Given the description of an element on the screen output the (x, y) to click on. 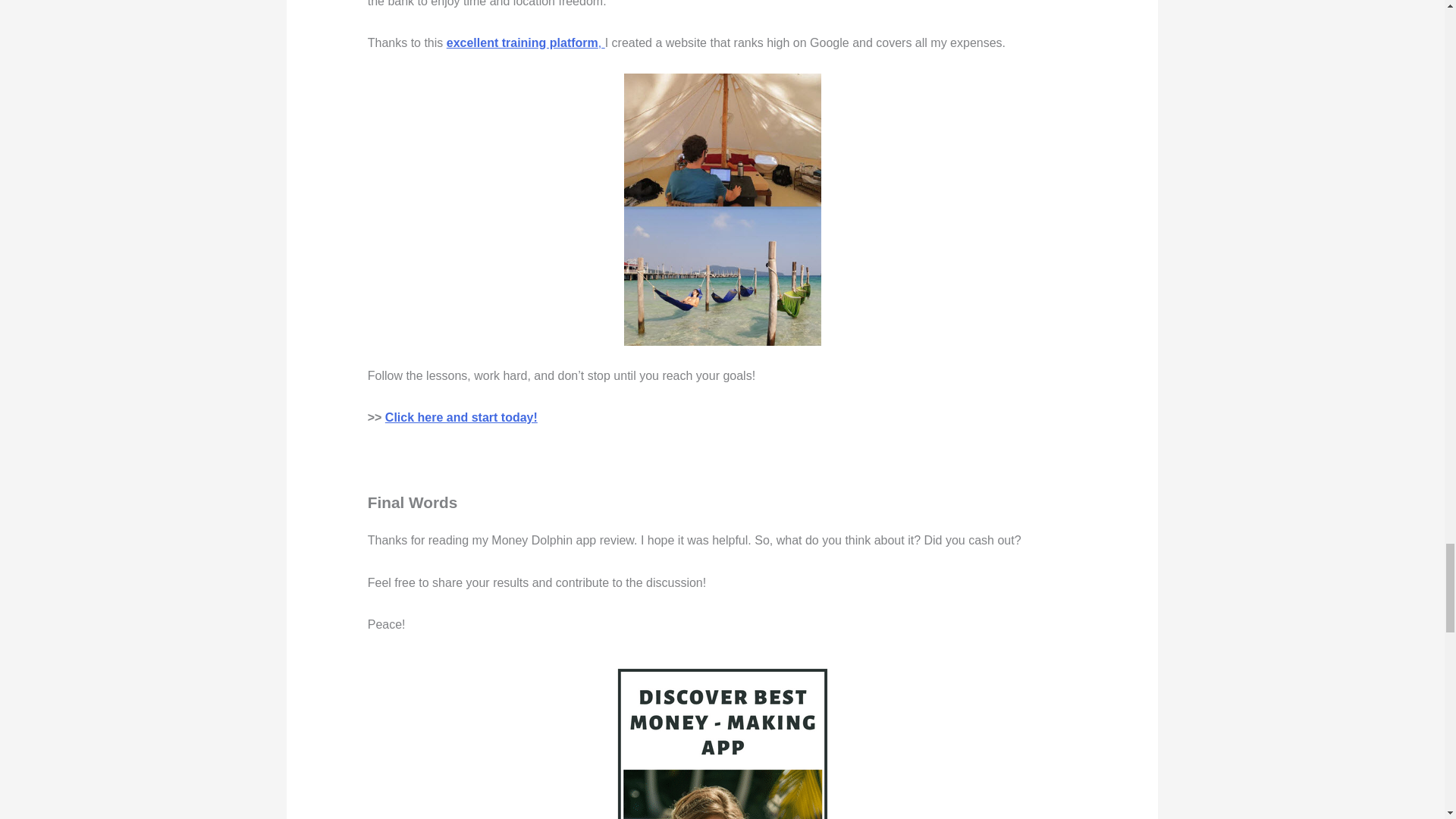
excellent training platform, (524, 42)
Click here and start today! (461, 417)
